Given the description of an element on the screen output the (x, y) to click on. 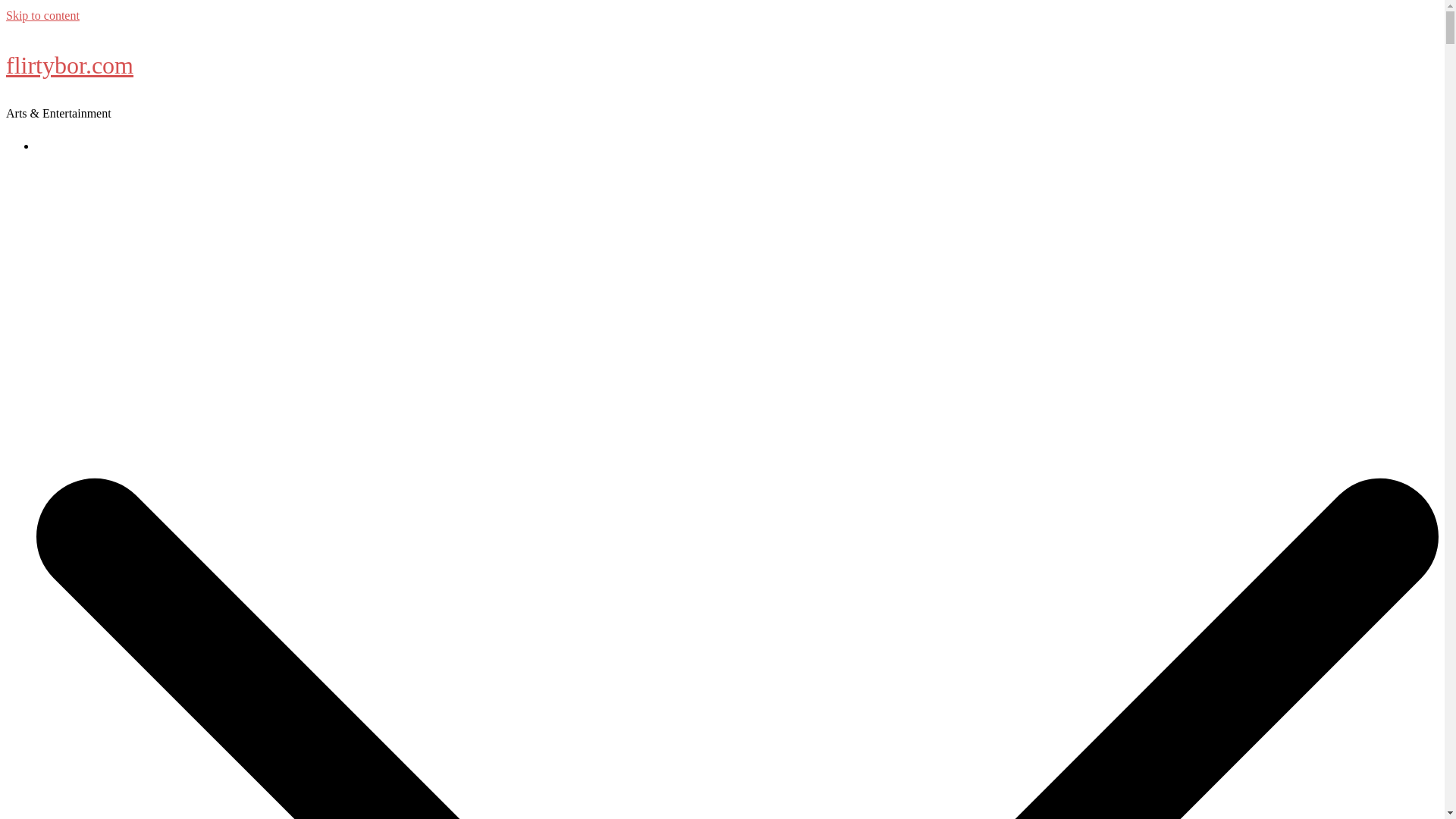
Skip to content (42, 15)
Company (59, 145)
flirtybor.com (69, 64)
